Given the description of an element on the screen output the (x, y) to click on. 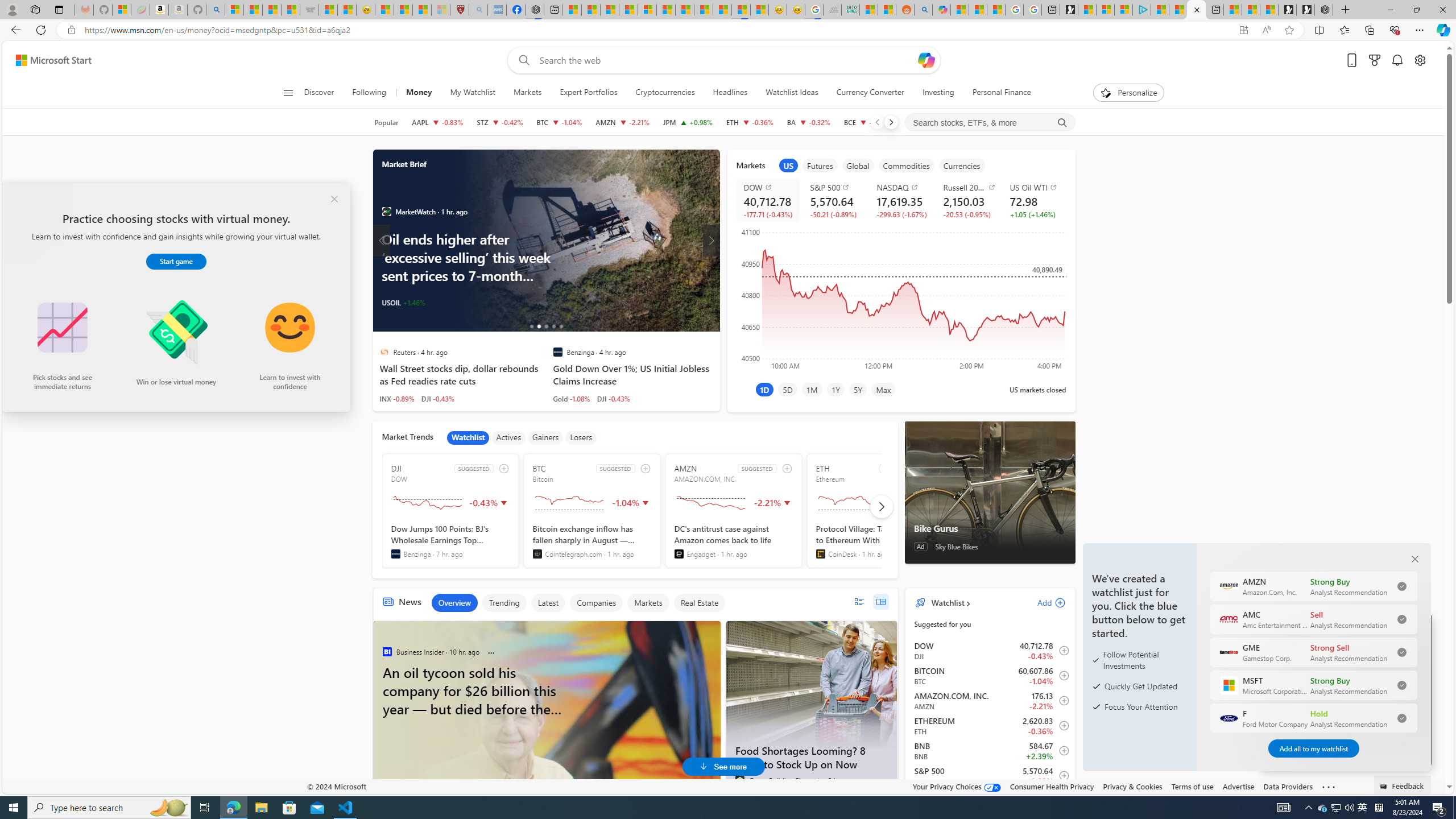
S&P 500 (836, 187)
Add (1041, 602)
item1 (787, 164)
US Oil WTI USOIL increase 72.98 +1.05 +1.46% (1033, 200)
grid layout (880, 601)
BNB BNB increase 584.67 +13.99 +2.39% item4 (989, 750)
DJI SUGGESTED DOW (449, 510)
Currency Converter (869, 92)
Personal Finance (996, 92)
Add to Watchlist (1061, 775)
BTC Bitcoin decrease 60,607.86 -629.74 -1.04% (559, 122)
